Given the description of an element on the screen output the (x, y) to click on. 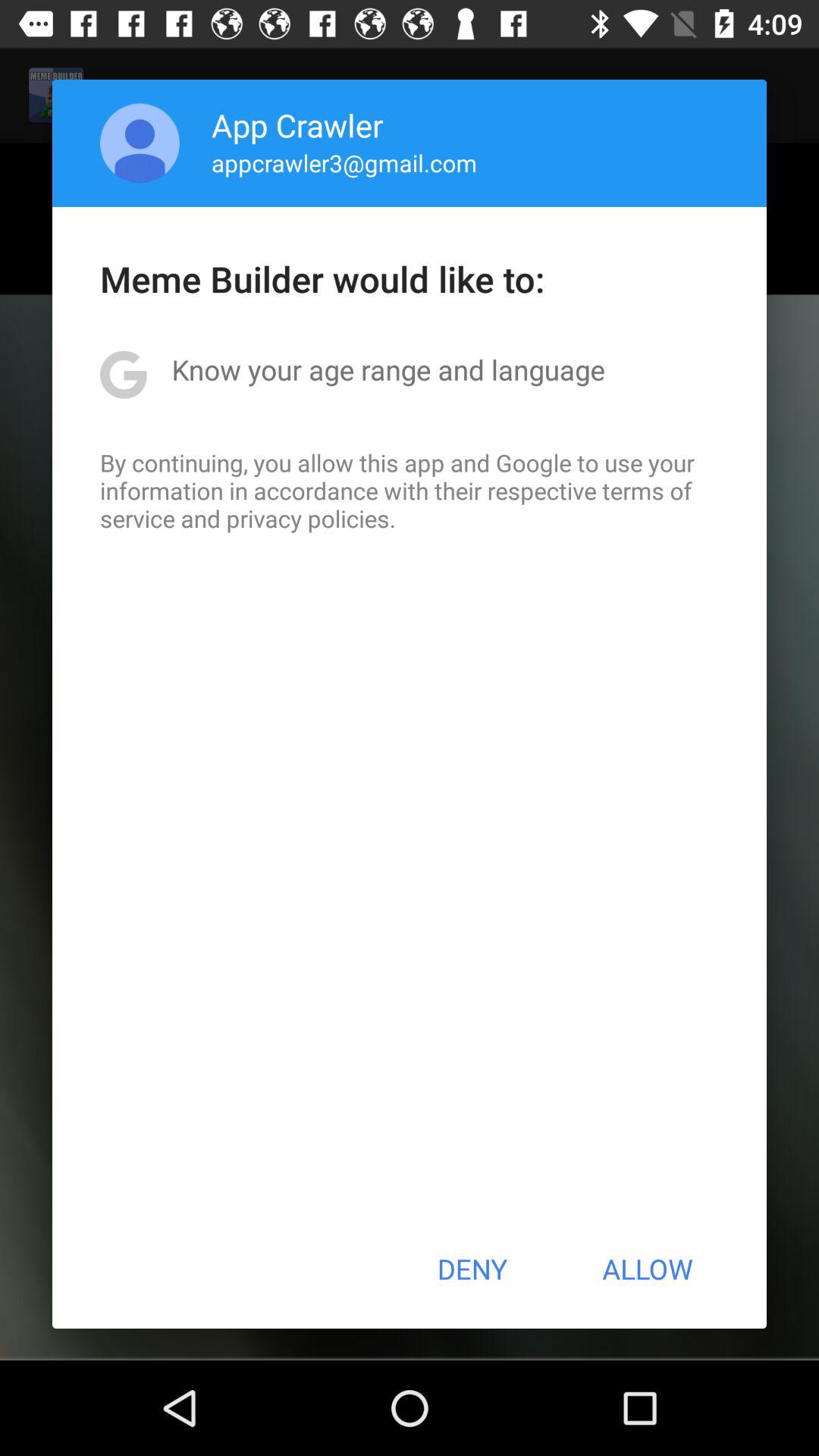
turn on icon above the by continuing you (388, 369)
